Given the description of an element on the screen output the (x, y) to click on. 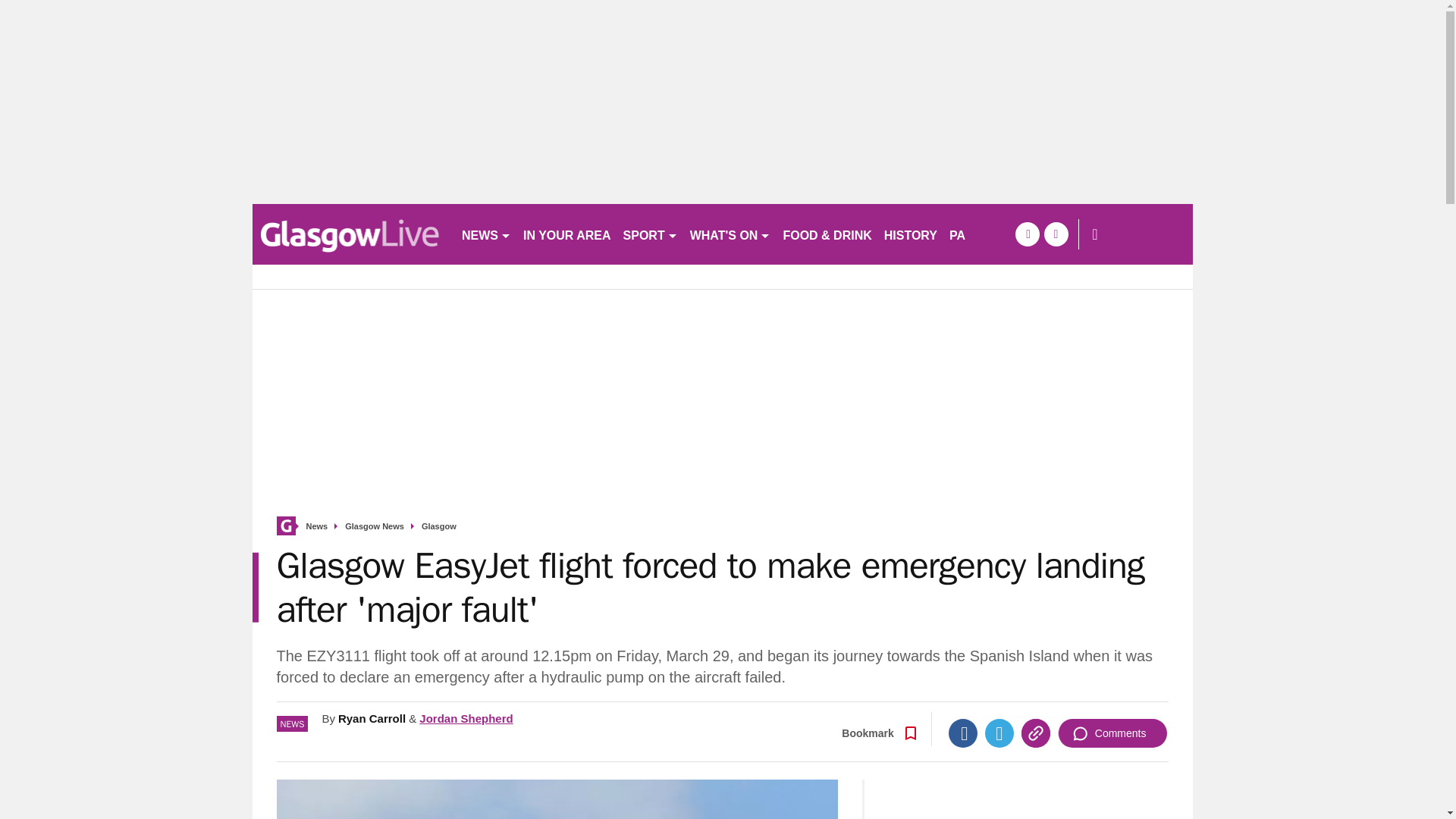
NEWS (485, 233)
IN YOUR AREA (566, 233)
HISTORY (910, 233)
Comments (1112, 733)
WHAT'S ON (730, 233)
Twitter (999, 733)
twitter (1055, 233)
PARTNER STORIES (1006, 233)
facebook (1026, 233)
Facebook (962, 733)
SPORT (650, 233)
glasgowlive (349, 233)
